Given the description of an element on the screen output the (x, y) to click on. 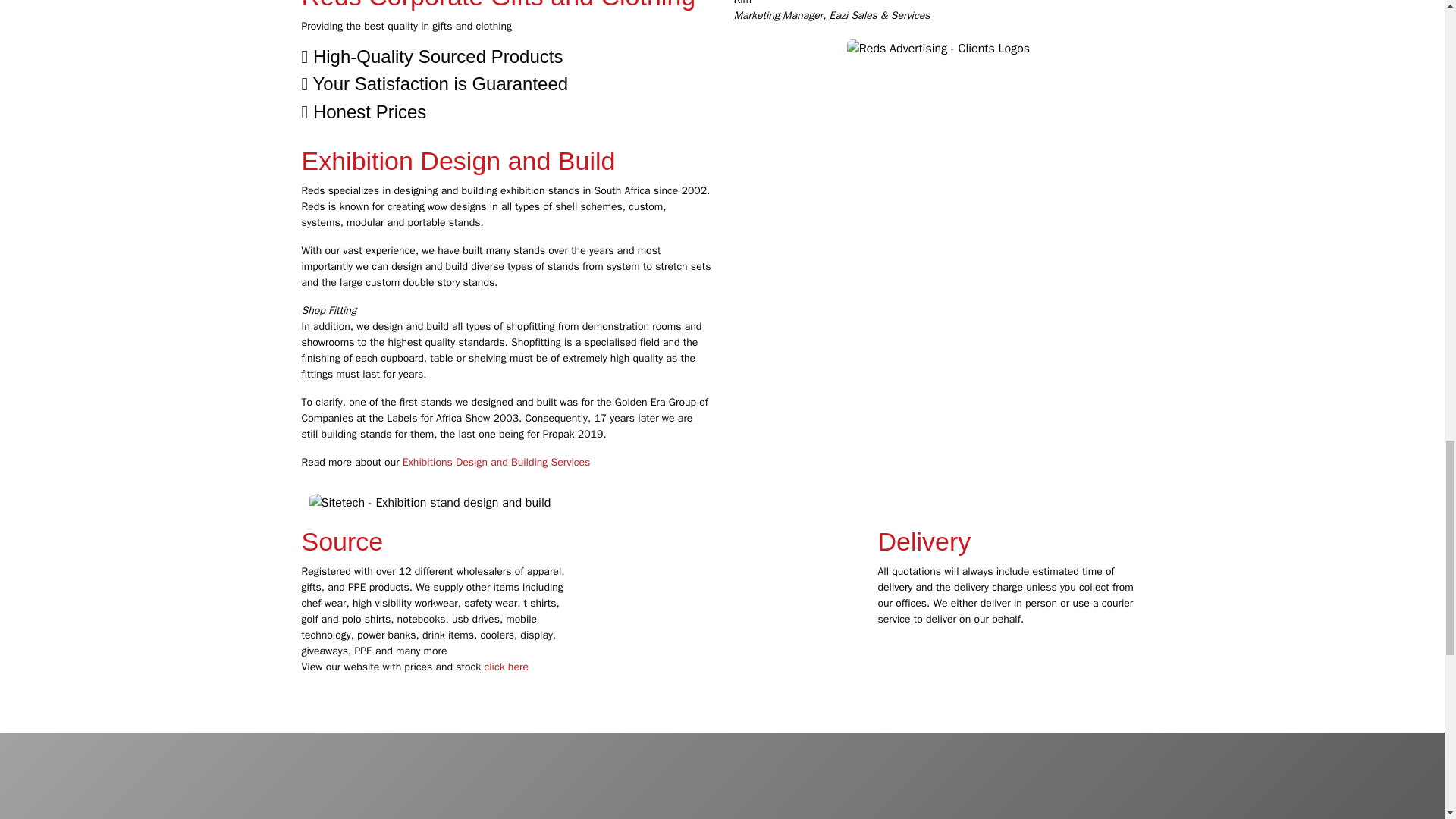
View our Exhibitions Design and Building Services (496, 461)
